Given the description of an element on the screen output the (x, y) to click on. 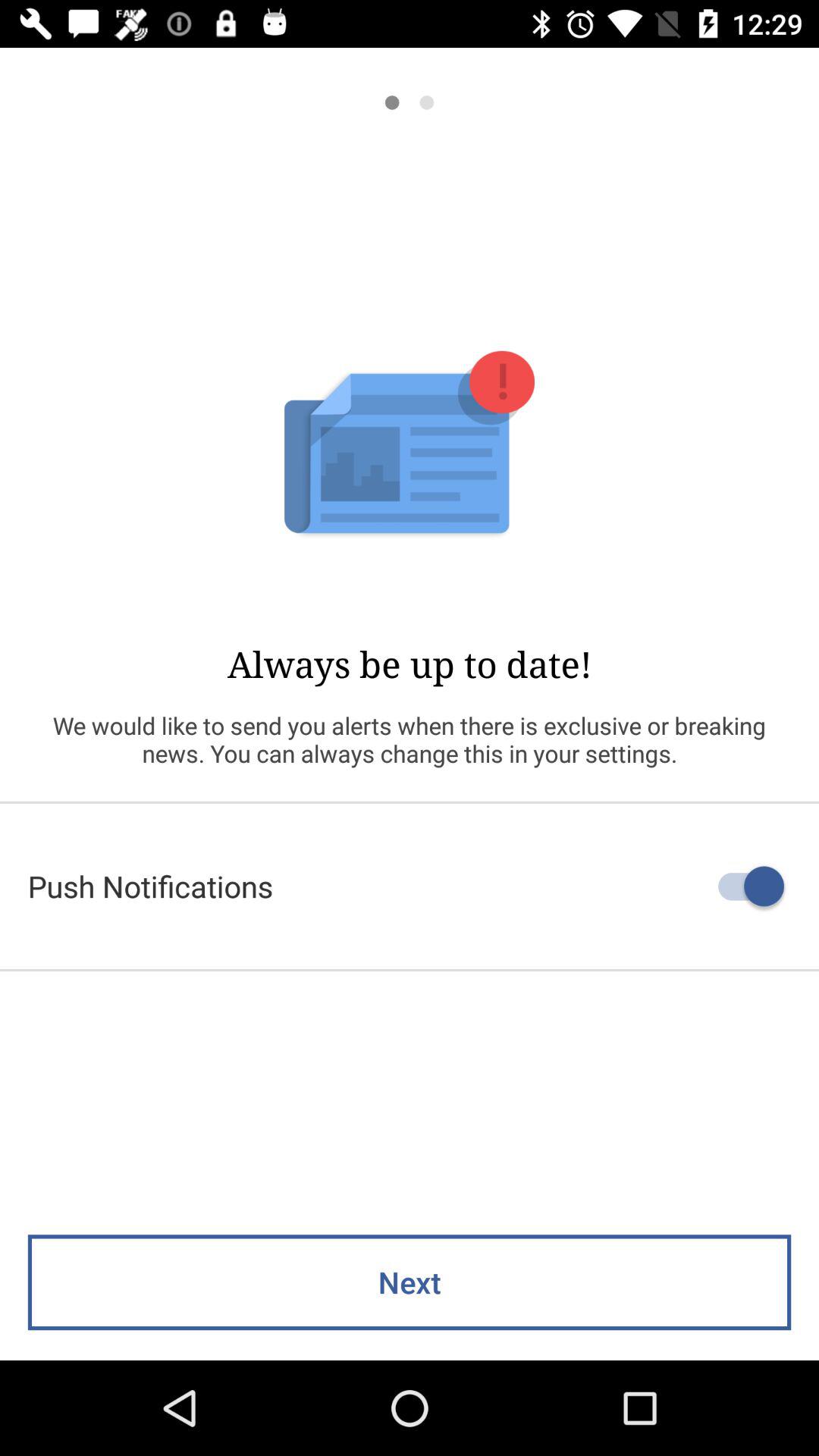
click the push notifications icon (409, 886)
